Given the description of an element on the screen output the (x, y) to click on. 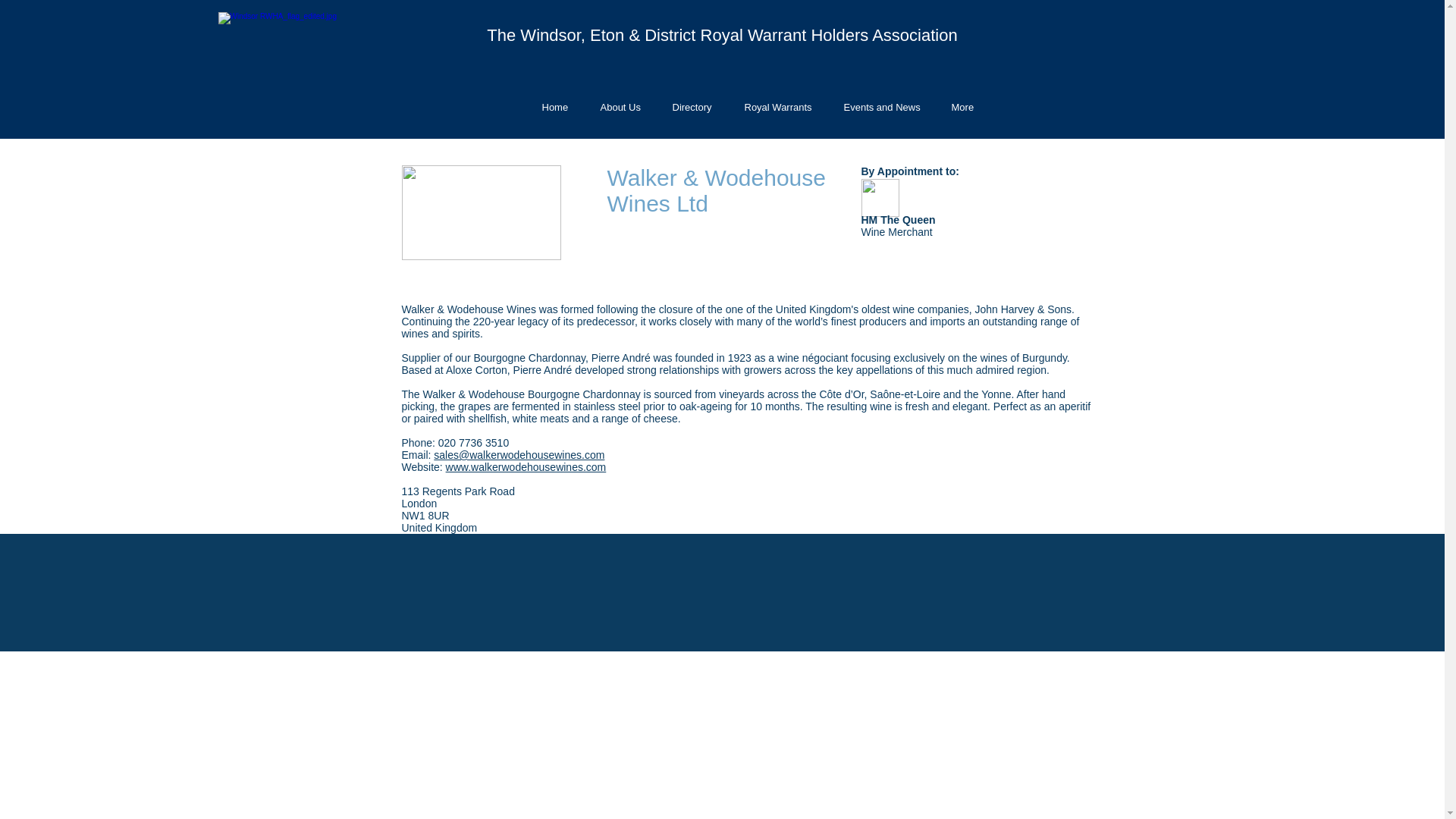
Royal Warrants (778, 107)
About Us (621, 107)
Events and News (882, 107)
www.walkerwodehousewines.com (526, 467)
Directory (692, 107)
Home (555, 107)
windsor new logo.jpg (284, 64)
